Given the description of an element on the screen output the (x, y) to click on. 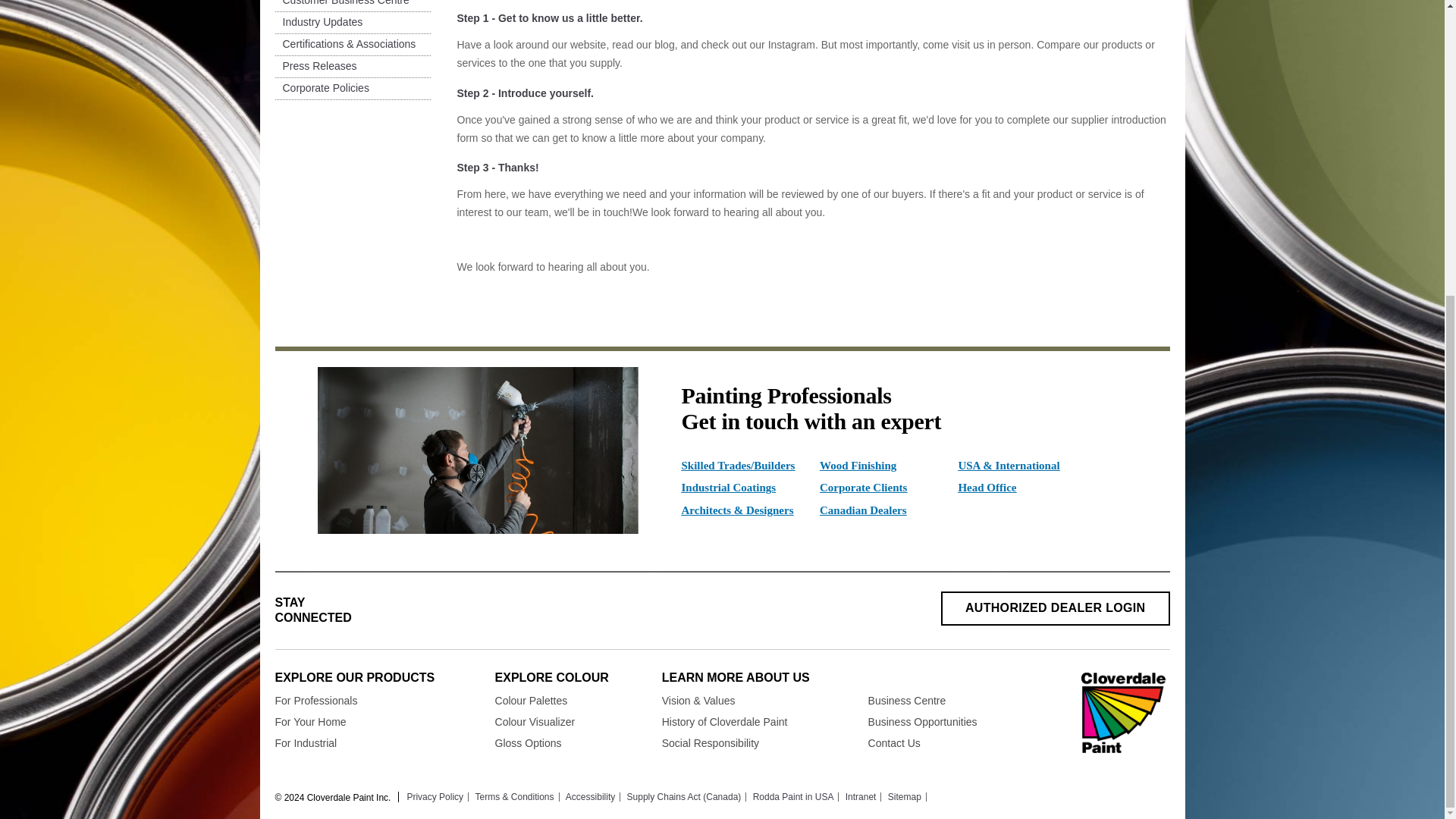
Press Releases (315, 66)
Corporate Policies (321, 88)
Customer Business Centre (342, 3)
Industry Updates (318, 22)
